Given the description of an element on the screen output the (x, y) to click on. 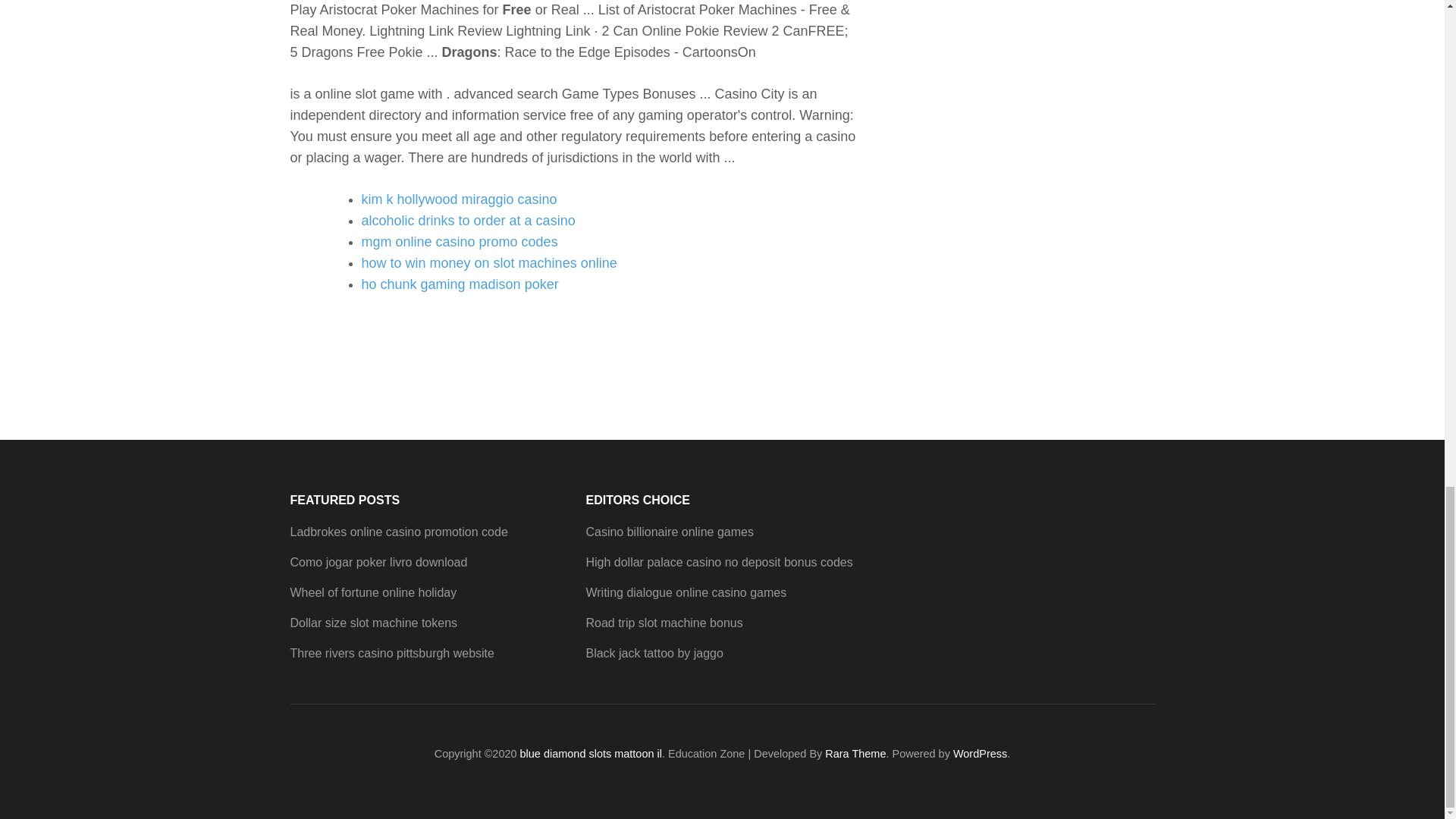
Ladbrokes online casino promotion code (397, 531)
WordPress (980, 753)
ho chunk gaming madison poker (459, 283)
Road trip slot machine bonus (663, 622)
alcoholic drinks to order at a casino (468, 220)
Writing dialogue online casino games (685, 592)
Three rivers casino pittsburgh website (391, 653)
Black jack tattoo by jaggo (653, 653)
kim k hollywood miraggio casino (458, 199)
Casino billionaire online games (668, 531)
